Given the description of an element on the screen output the (x, y) to click on. 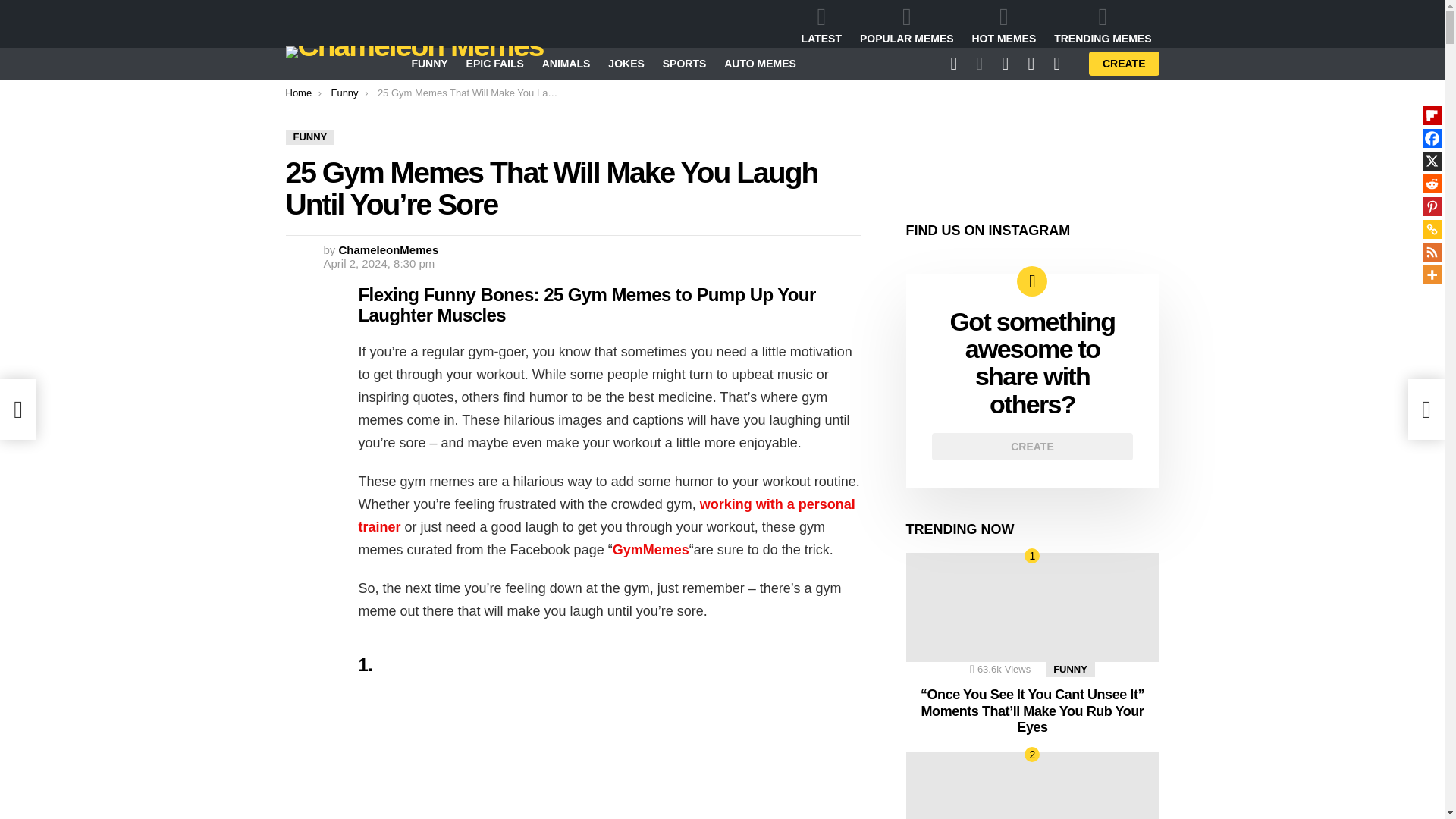
Posts by ChameleonMemes (389, 249)
Funny (344, 92)
Home (298, 92)
JOKES (624, 63)
EPIC FAILS (494, 63)
ChameleonMemes (389, 249)
SPORTS (684, 63)
ANIMALS (566, 63)
AUTO MEMES (759, 63)
working with a personal trainer (606, 515)
FUNNY (428, 63)
LATEST (820, 24)
HOT MEMES (1003, 24)
FUNNY (309, 136)
Subscribe (893, 222)
